Given the description of an element on the screen output the (x, y) to click on. 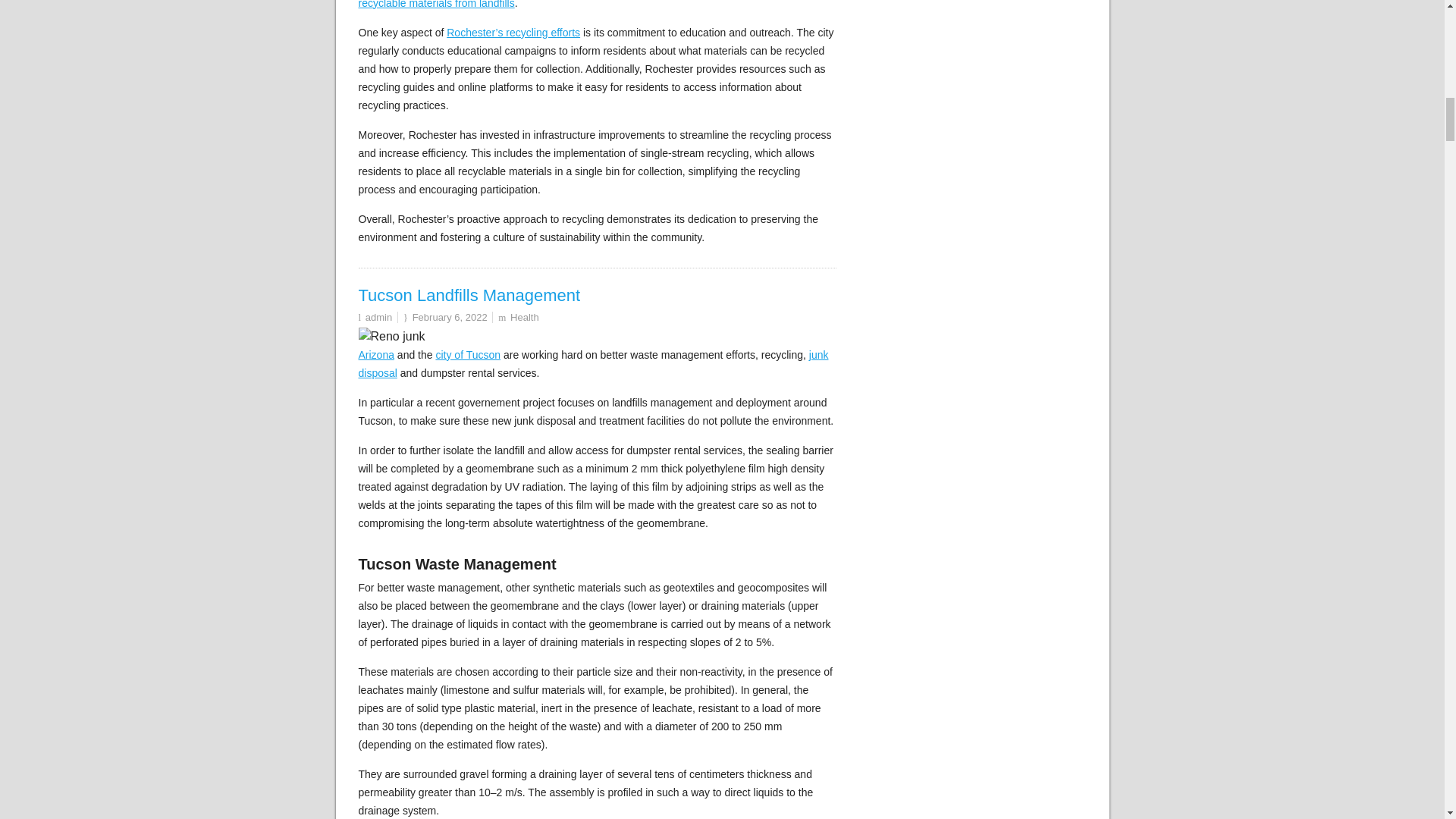
February 6, 2022 (449, 317)
admin (378, 317)
Health (524, 317)
divert recyclable materials from landfills (580, 4)
city of Tucson (467, 354)
junk disposal (593, 363)
Tucson Landfills Management (468, 294)
Posts by admin (378, 317)
Arizona (375, 354)
